Given the description of an element on the screen output the (x, y) to click on. 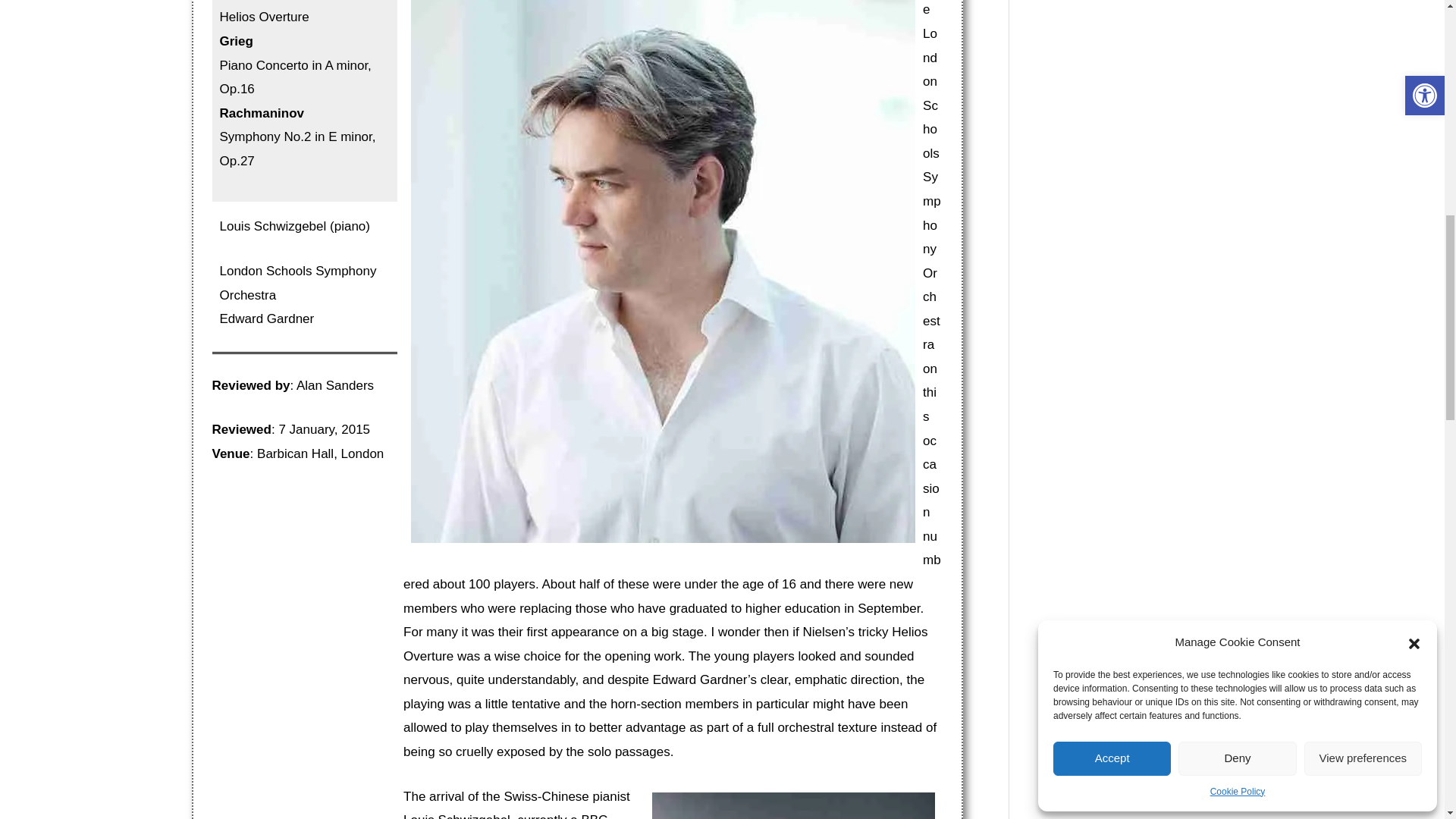
Louis Schwizgebel. Photograph: Marco Borggreve (793, 805)
